Given the description of an element on the screen output the (x, y) to click on. 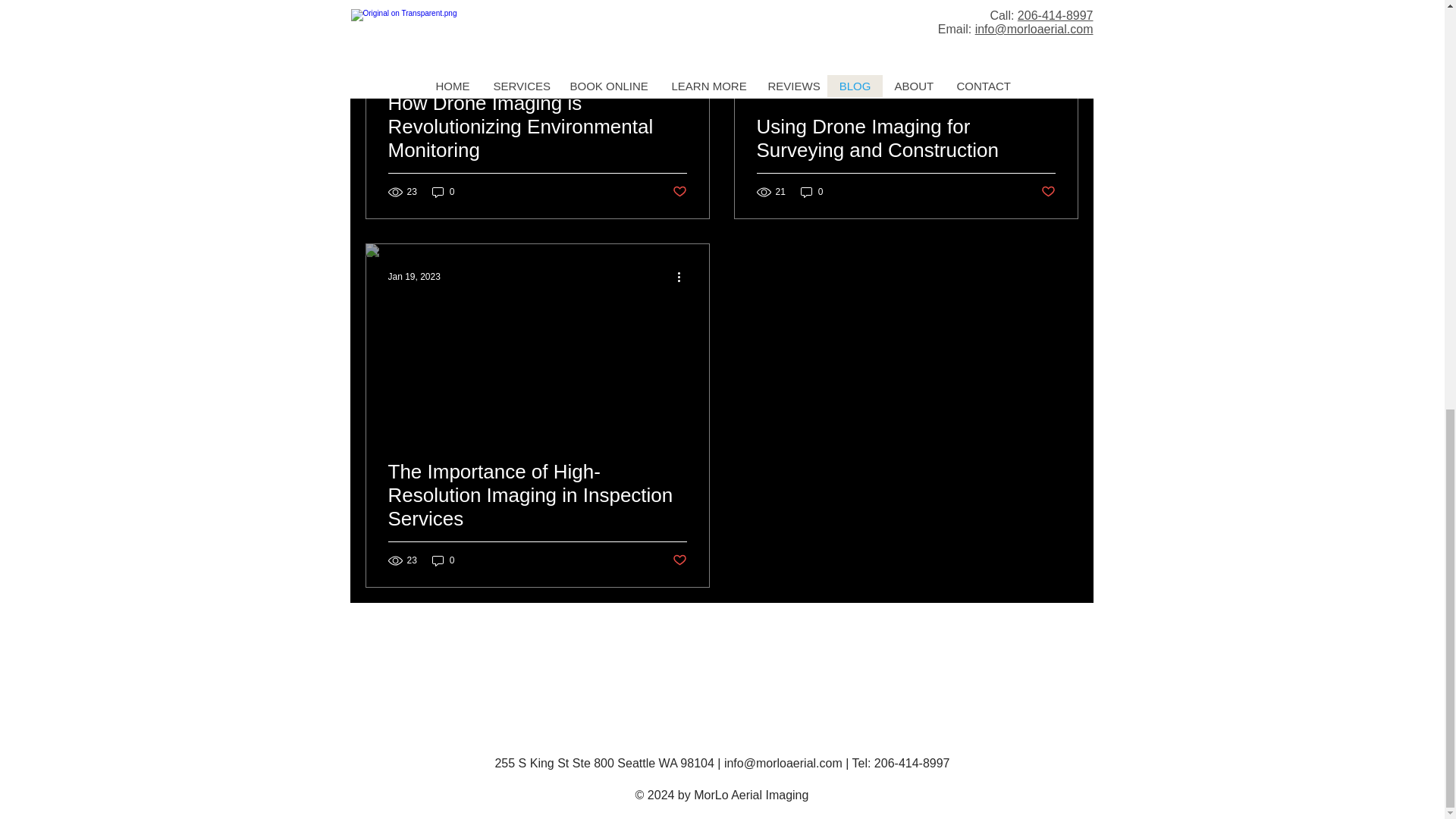
Jan 19, 2023 (414, 276)
0 (443, 192)
Using Drone Imaging for Surveying and Construction (906, 156)
Post not marked as liked (678, 191)
Post not marked as liked (678, 560)
Post not marked as liked (1047, 191)
0 (812, 192)
0 (443, 560)
